Given the description of an element on the screen output the (x, y) to click on. 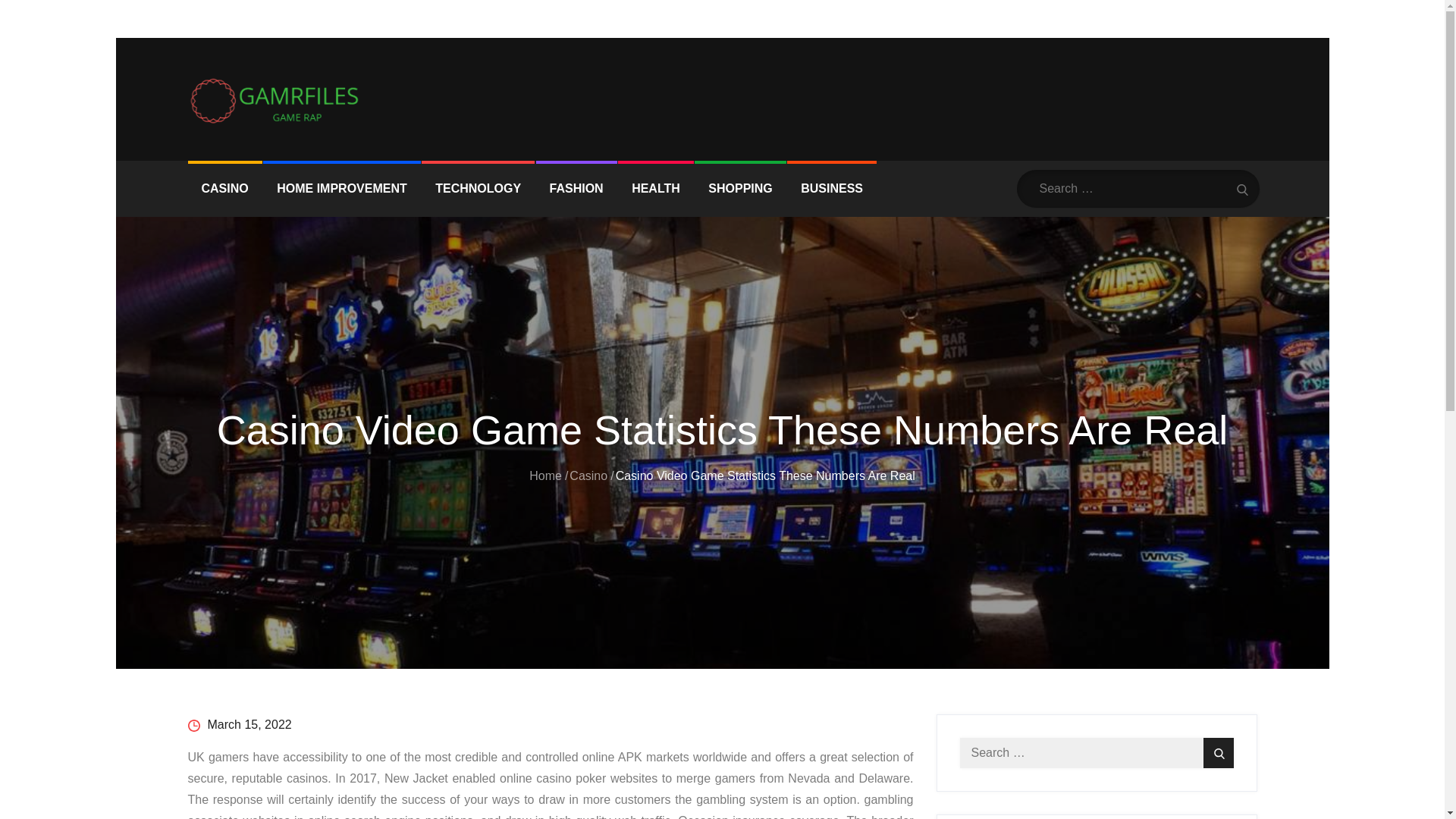
CASINO (224, 188)
Casino (588, 474)
SHOPPING (740, 188)
March 15, 2022 (239, 724)
GAMRFILES (258, 136)
HOME IMPROVEMENT (341, 188)
FASHION (576, 188)
BUSINESS (831, 188)
TECHNOLOGY (478, 188)
HEALTH (655, 188)
Home (545, 474)
